Given the description of an element on the screen output the (x, y) to click on. 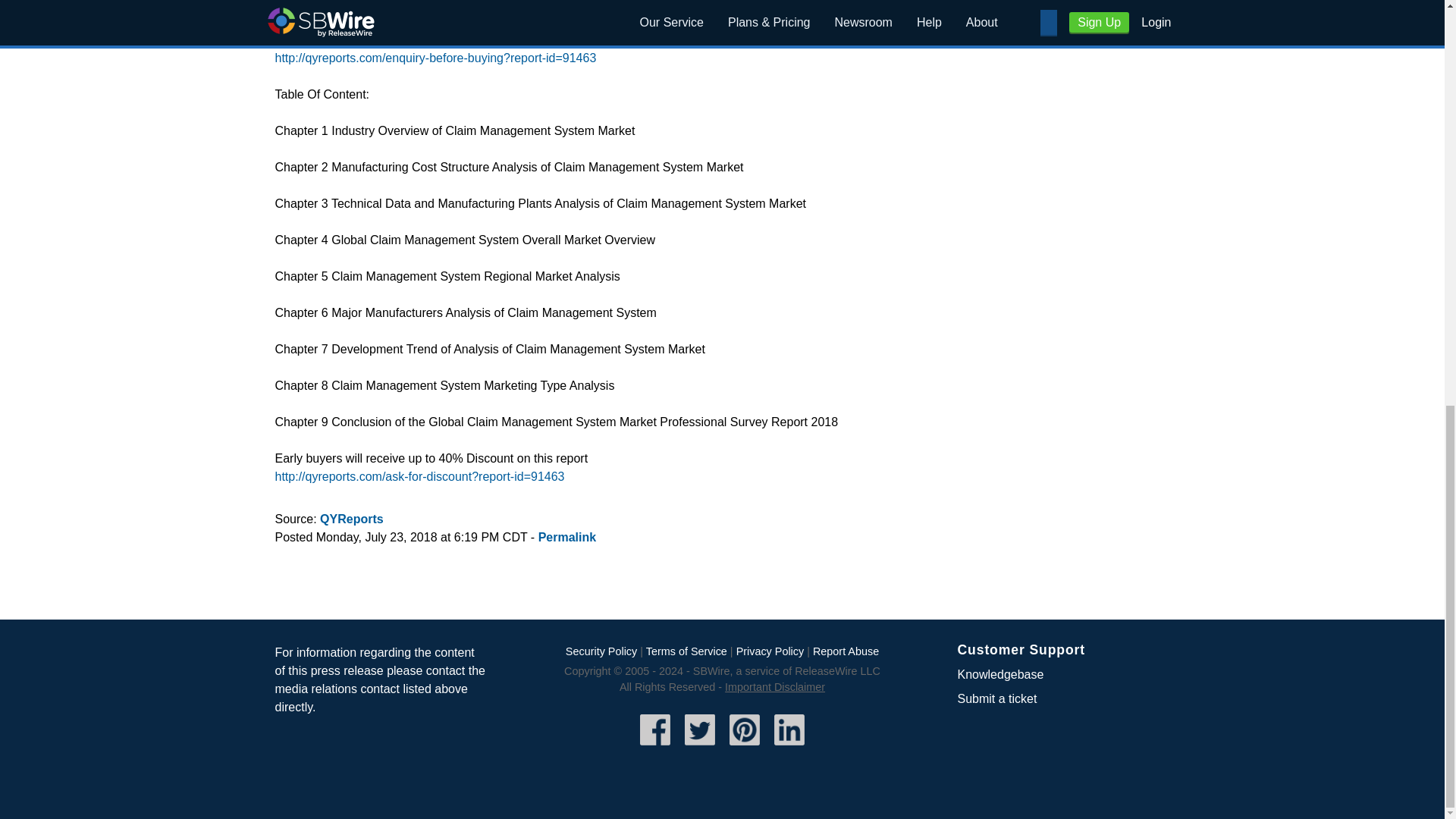
Follow SBWire on LinkedIn (788, 746)
Terms of Service (686, 651)
QYReports (352, 518)
Important Disclaimer (775, 686)
Visit SBWire on Pinterest (744, 746)
Follow SBWire on Twitter (699, 746)
Report Abuse (845, 651)
Find SBWire on Facebook (655, 746)
Permalink (566, 536)
Security Policy (601, 651)
Privacy Policy (770, 651)
